Given the description of an element on the screen output the (x, y) to click on. 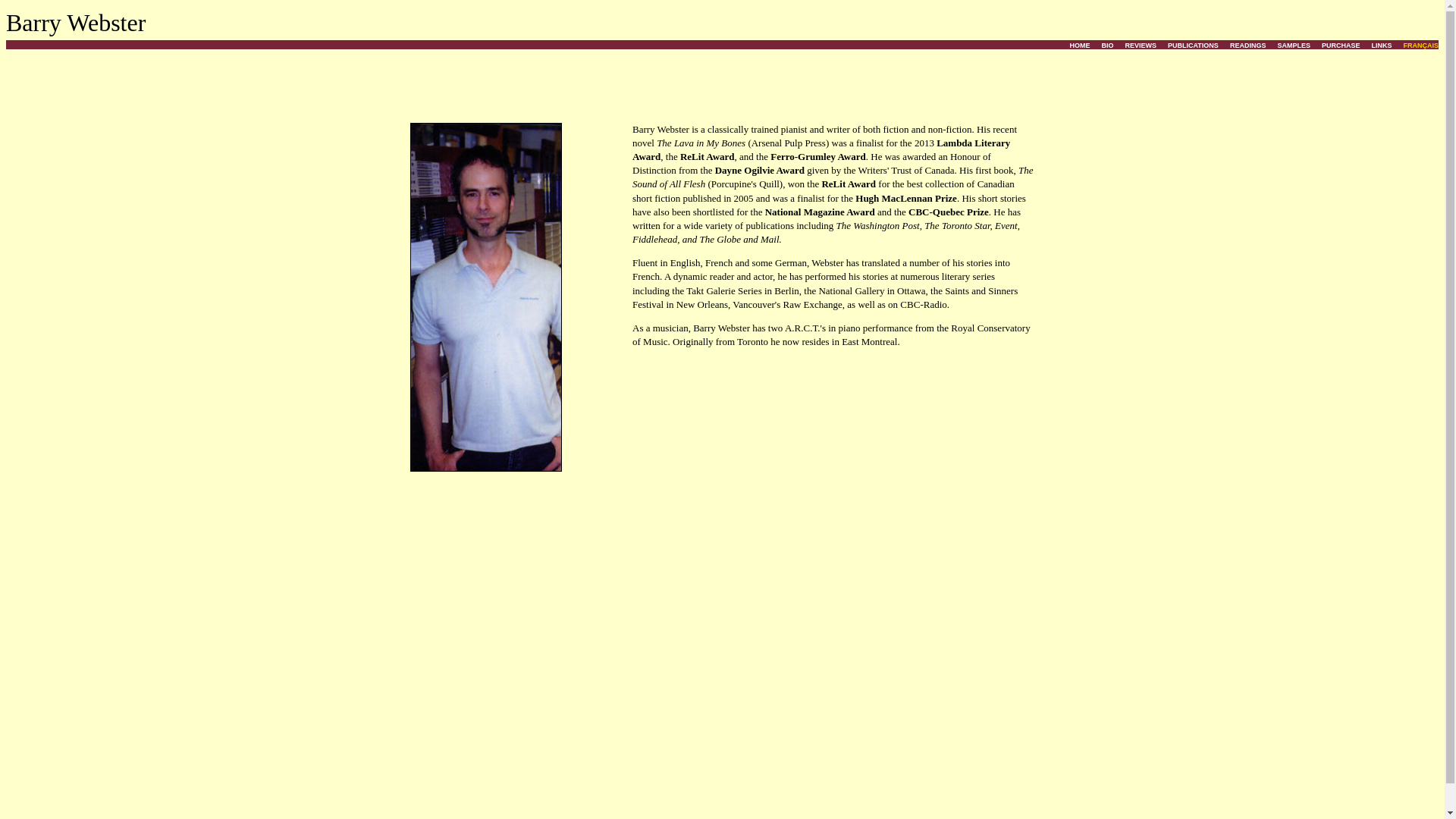
SAMPLES Element type: text (1293, 45)
PUBLICATIONS Element type: text (1192, 45)
READINGS Element type: text (1248, 45)
LINKS Element type: text (1381, 45)
PURCHASE Element type: text (1340, 45)
BIO Element type: text (1107, 45)
HOME Element type: text (1079, 45)
REVIEWS Element type: text (1141, 45)
